Given the description of an element on the screen output the (x, y) to click on. 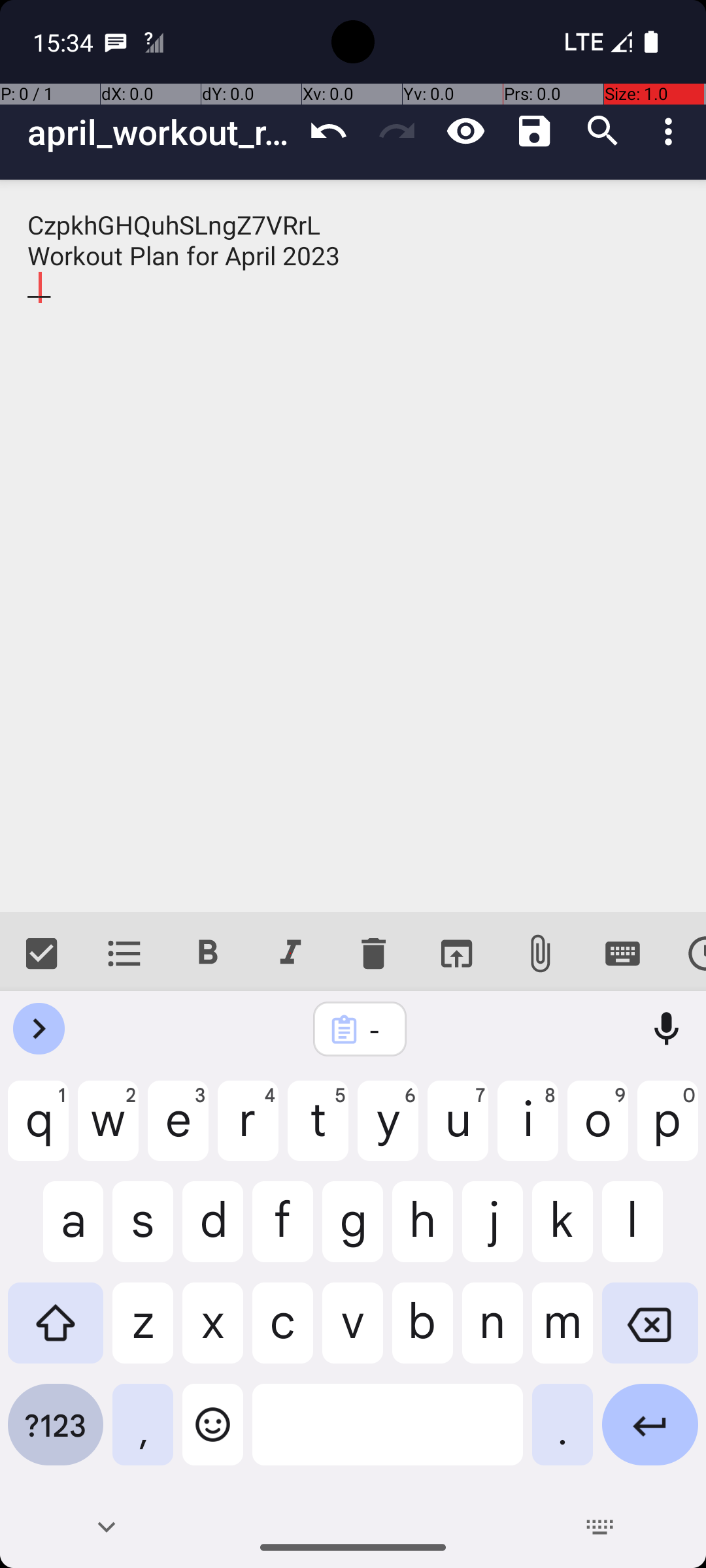
april_workout_routine_2023_01_01 Element type: android.widget.TextView (160, 131)
CzpkhGHQuhSLngZ7VRrL
Workout Plan for April 2023
__ Element type: android.widget.EditText (353, 545)
-  Element type: android.widget.TextView (376, 1029)
